Given the description of an element on the screen output the (x, y) to click on. 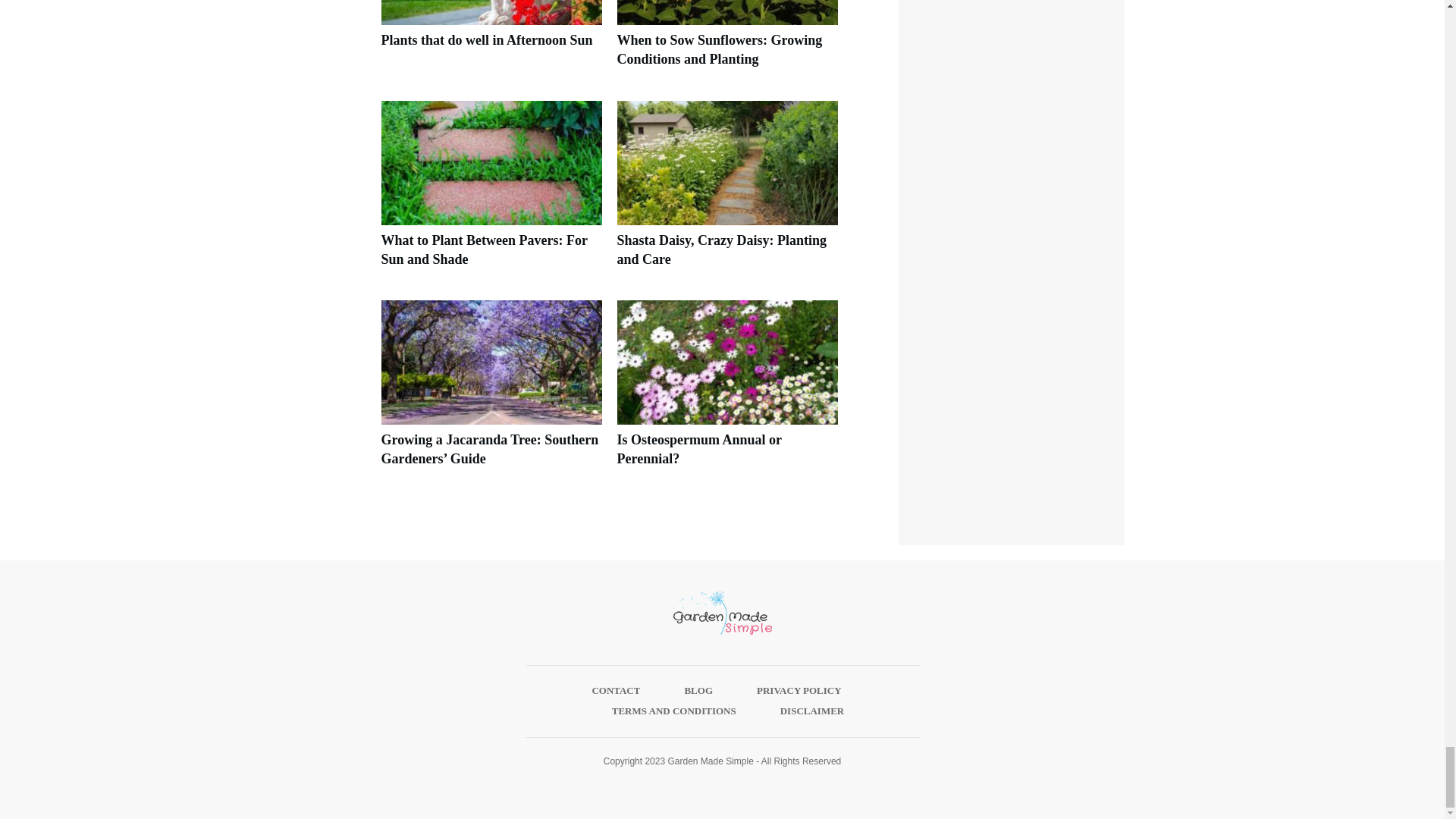
What to Plant Between Pavers: For Sun and Shade (483, 249)
Is Osteospermum Annual or Perennial? (699, 449)
When to Sow Sunflowers: Growing Conditions and Planting (727, 42)
When to Sow Sunflowers: Growing Conditions and Planting (719, 49)
Shasta Daisy, Crazy Daisy: Planting and Care (727, 192)
Shasta Daisy, Crazy Daisy: Planting and Care (722, 249)
What to Plant Between Pavers: For Sun and Shade (490, 192)
Is Osteospermum Annual or Perennial? (727, 392)
Plants that do well in Afternoon Sun (486, 39)
Plants that do well in Afternoon Sun (490, 42)
